Given the description of an element on the screen output the (x, y) to click on. 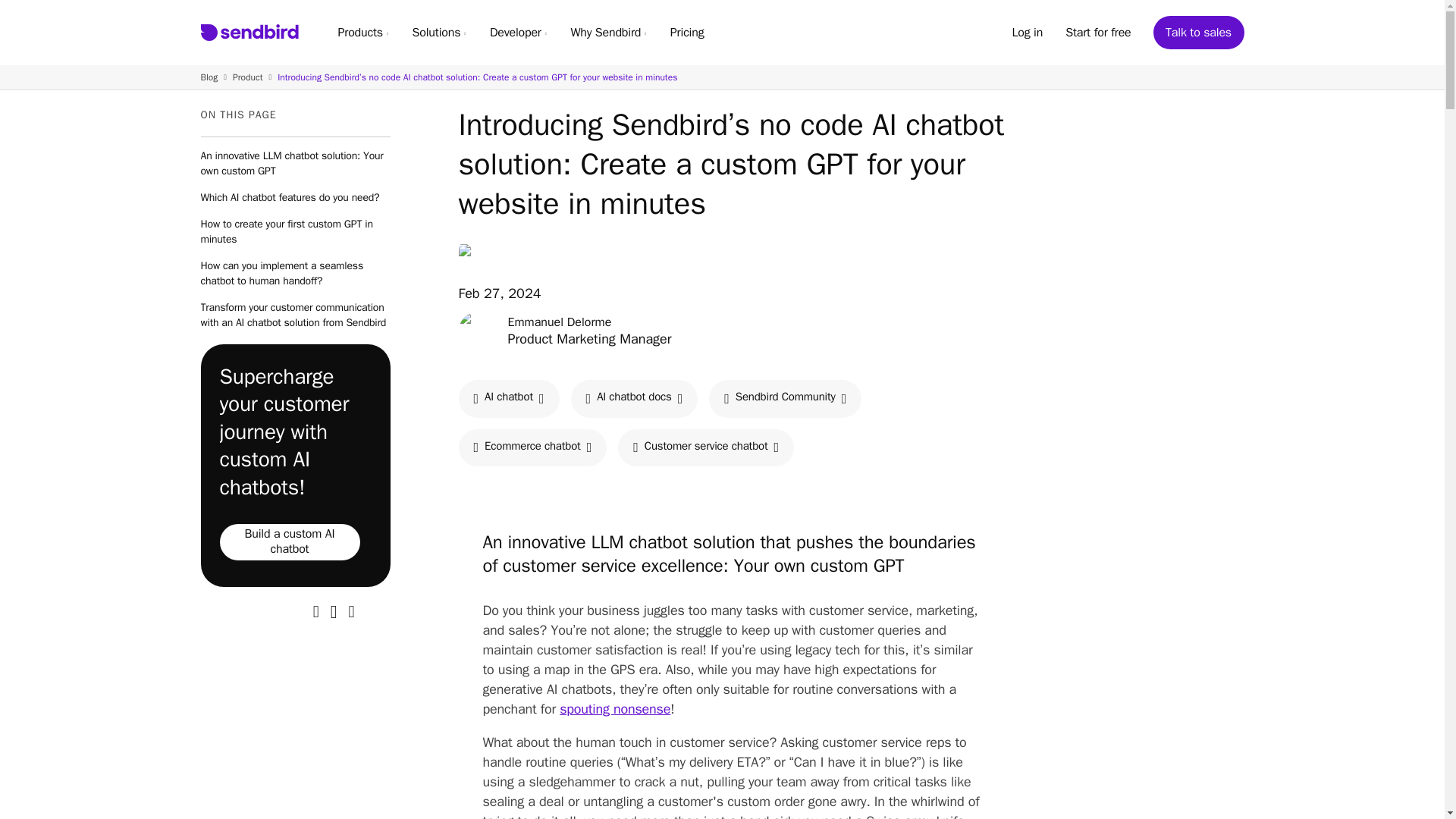
How to create your first custom GPT in minutes (295, 232)
Log in (1027, 32)
AI chatbot docs (634, 398)
Talk to sales (1198, 32)
Logo (249, 32)
spouting nonsense (614, 709)
AI chatbot (508, 398)
Build a custom AI chatbot (289, 542)
Pricing (686, 32)
Ecommerce chatbot (532, 447)
Which AI chatbot features do you need? (295, 197)
Product (247, 76)
How can you implement a seamless chatbot to human handoff? (295, 273)
Blog (208, 76)
An innovative LLM chatbot solution: Your own custom GPT (295, 163)
